Given the description of an element on the screen output the (x, y) to click on. 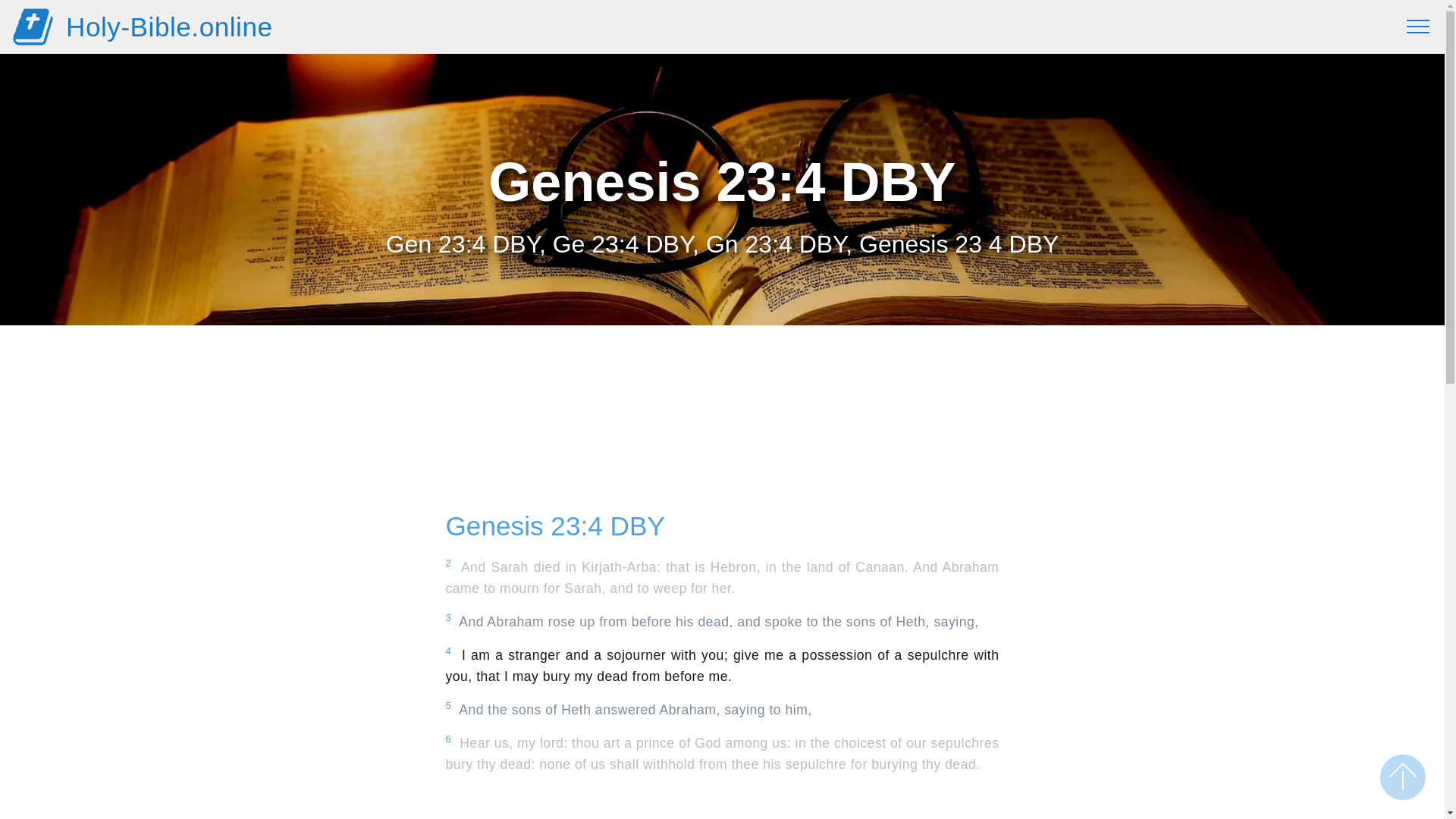
Holy-Bible.online (169, 26)
3rd party ad content (721, 434)
